Given the description of an element on the screen output the (x, y) to click on. 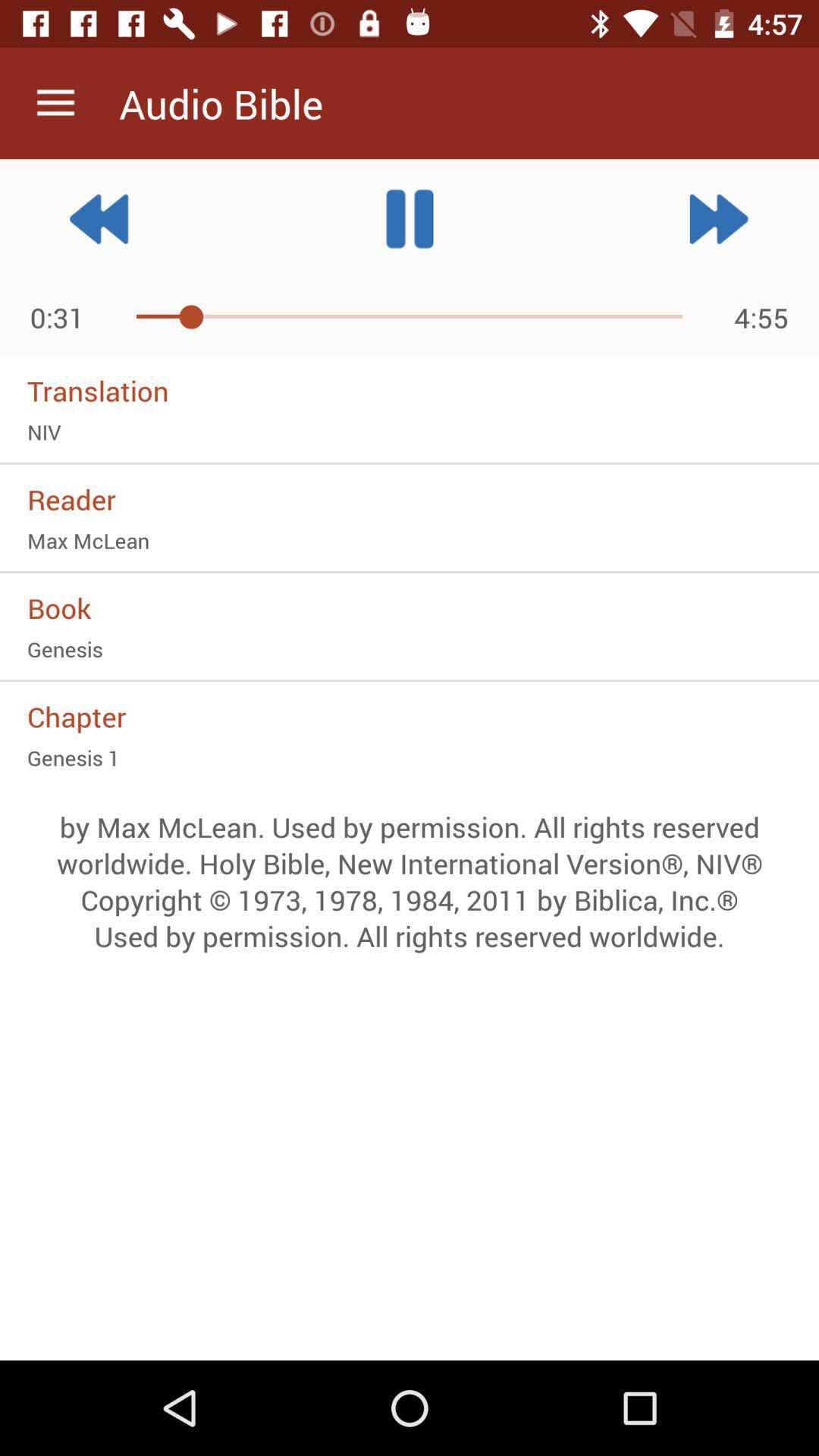
tap item above genesis 1 item (409, 716)
